Given the description of an element on the screen output the (x, y) to click on. 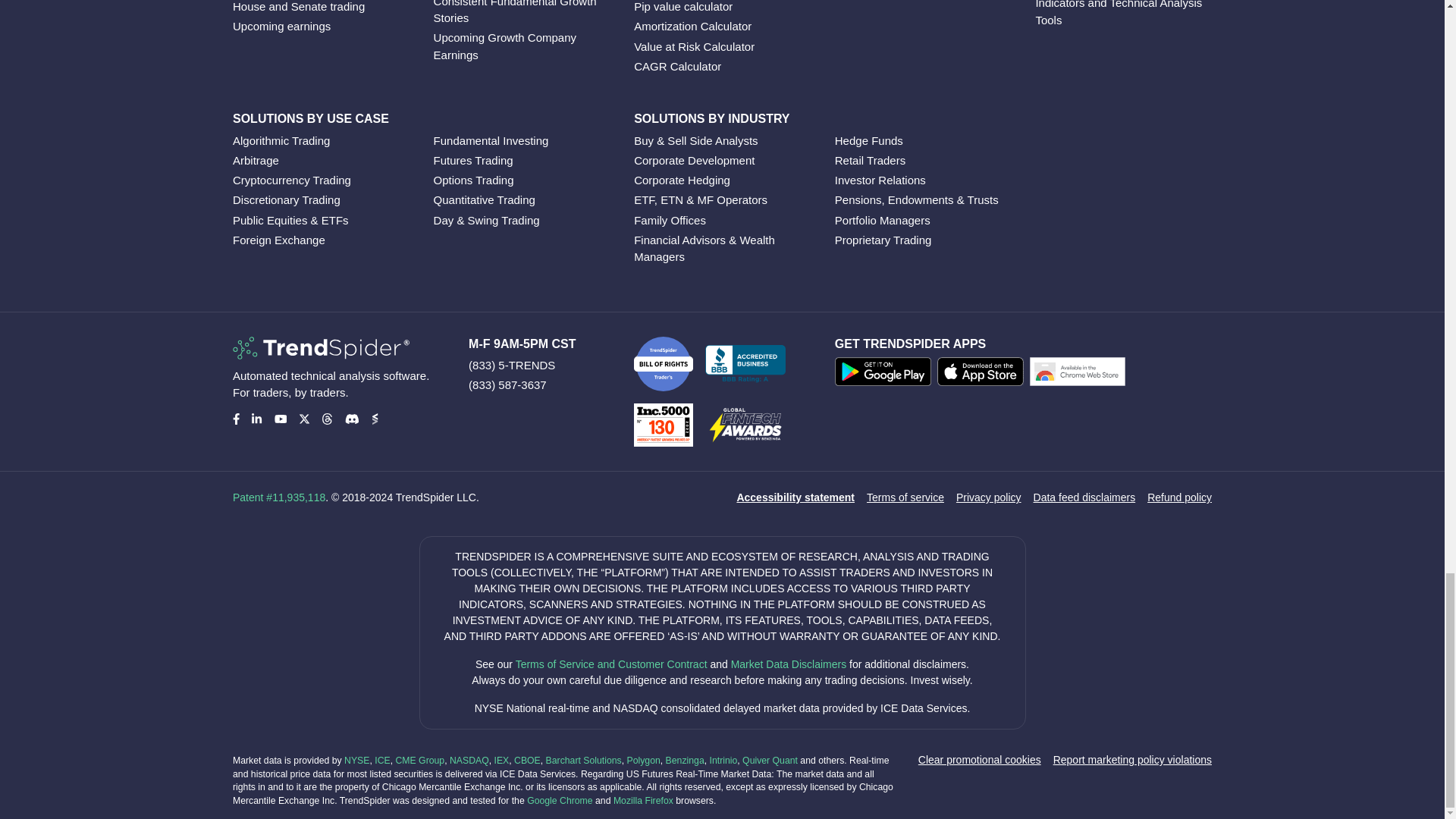
YouTube (280, 419)
Get TrendSpider App on App Store (983, 374)
X (304, 419)
TrendSpider (320, 347)
Get TrendSpider App on Google Play (885, 374)
Discord (350, 419)
Get TrendSpider extension in Chrome Web Store (1080, 374)
